Given the description of an element on the screen output the (x, y) to click on. 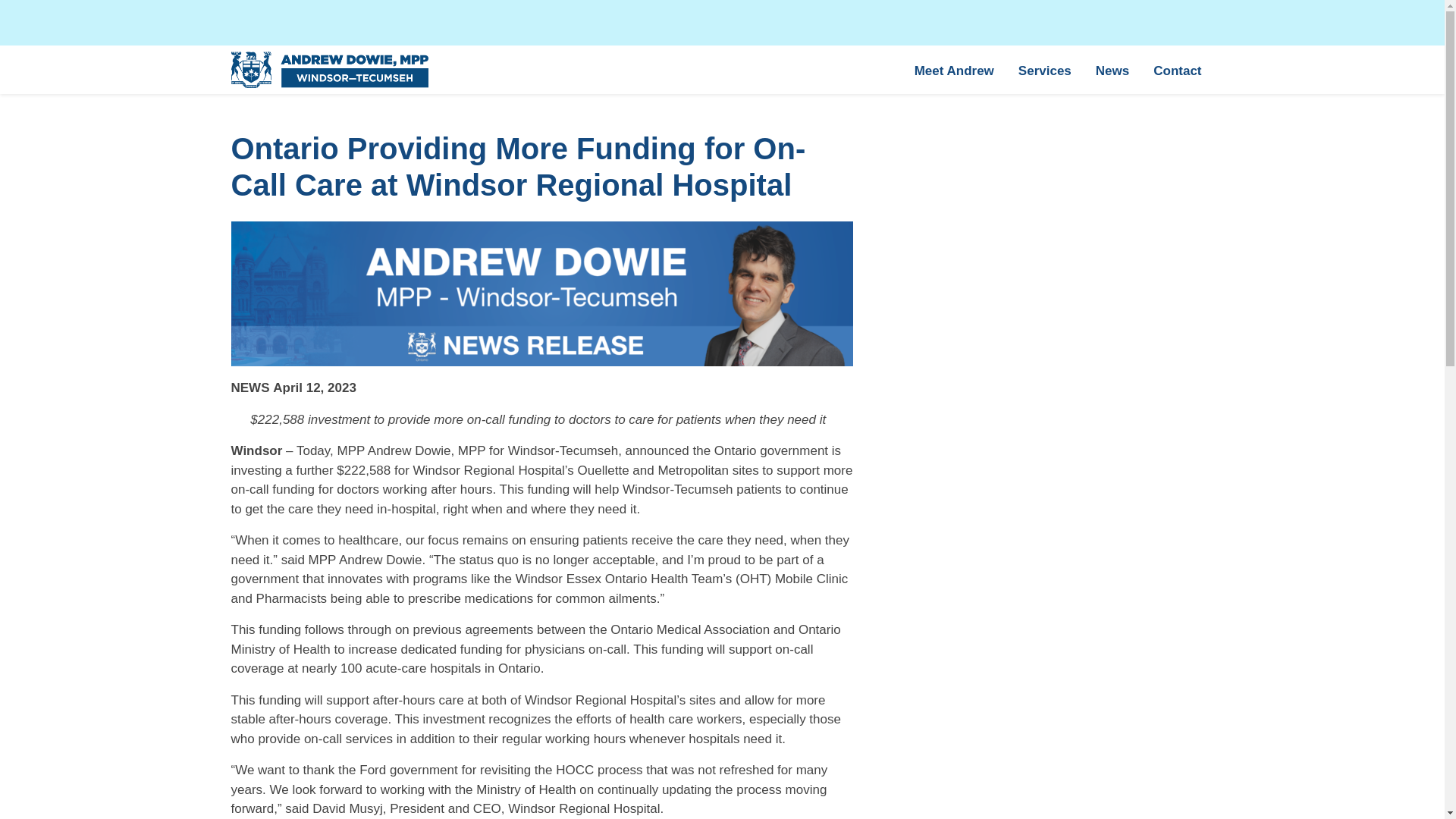
Meet Andrew (954, 69)
Contact (1176, 69)
Services (1044, 69)
News (1112, 69)
